Given the description of an element on the screen output the (x, y) to click on. 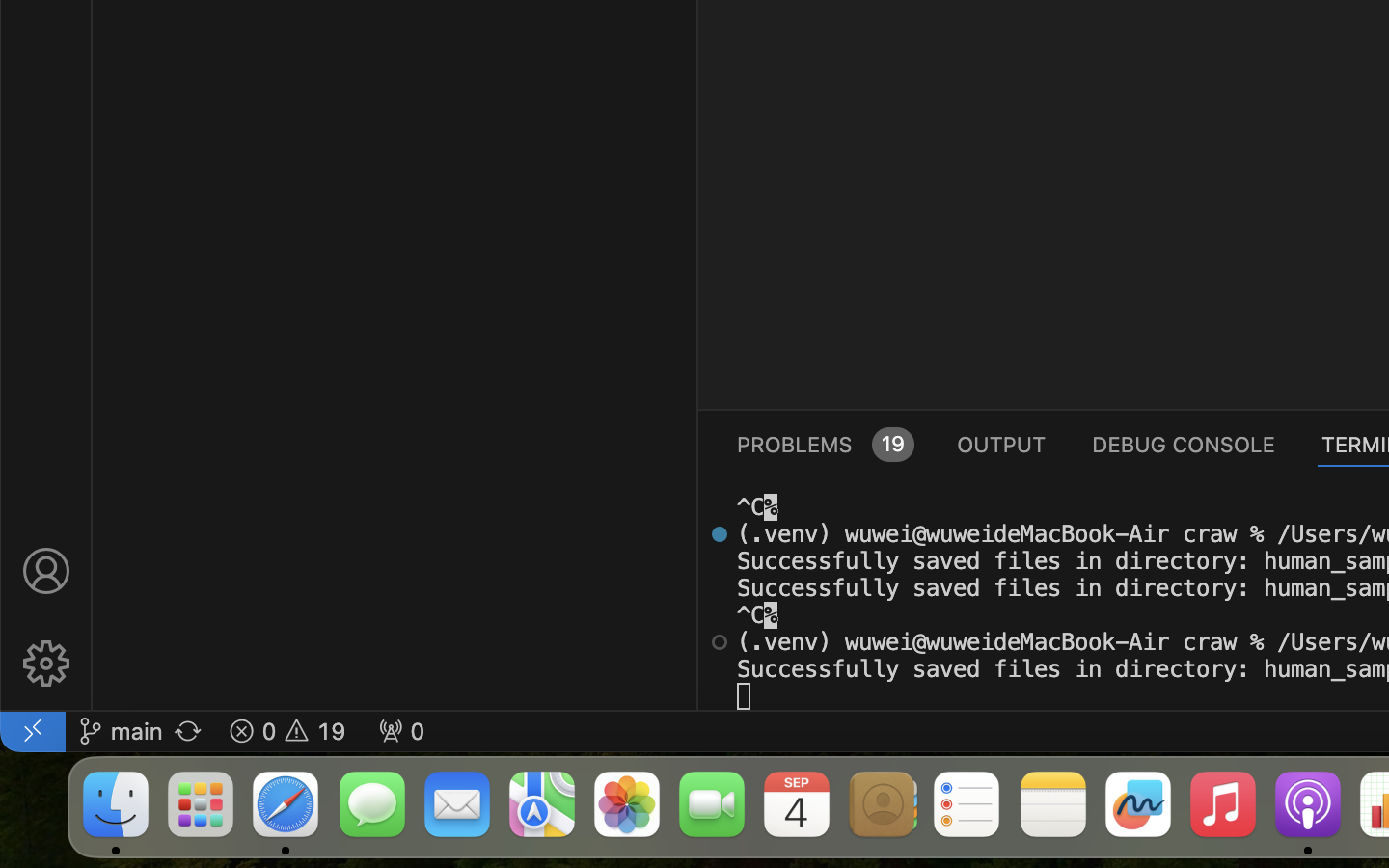
 Element type: AXStaticText (46, 663)
 Element type: AXGroup (46, 570)
main  Element type: AXButton (120, 730)
0 OUTPUT Element type: AXRadioButton (1001, 443)
 0 Element type: AXButton (400, 730)
